Given the description of an element on the screen output the (x, y) to click on. 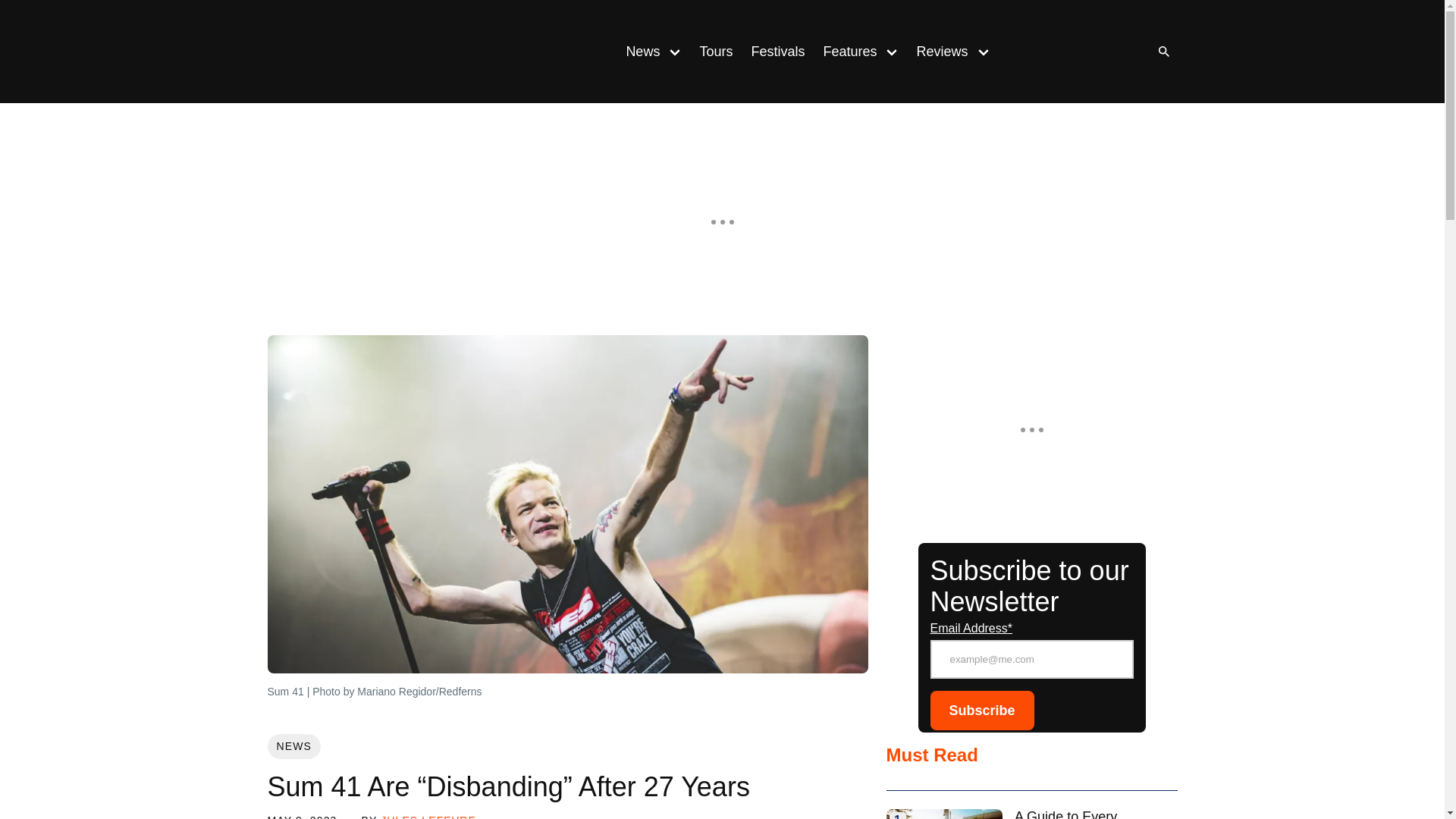
Tours (715, 51)
Festivals (777, 51)
Reviews (937, 51)
Facebook (1079, 51)
Instagram (1048, 51)
NEWS (293, 746)
Open menu (674, 51)
JULES LEFEVRE (428, 816)
Open menu (891, 51)
Twitter (1109, 51)
Features (844, 51)
Open menu (982, 51)
